Given the description of an element on the screen output the (x, y) to click on. 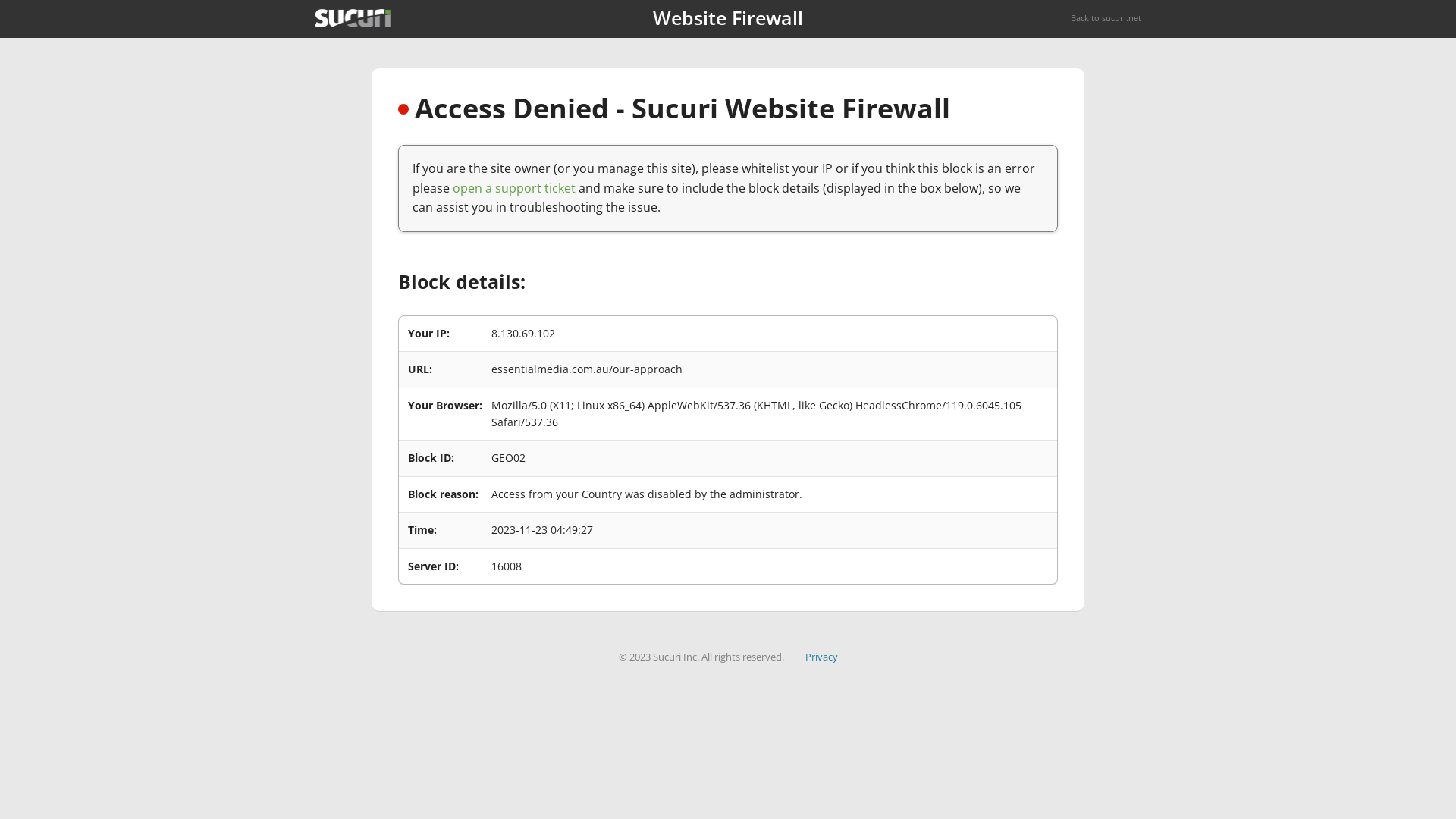
Back to sucuri.net Element type: text (1105, 18)
Privacy Element type: text (821, 656)
open a support ticket Element type: text (513, 187)
